Given the description of an element on the screen output the (x, y) to click on. 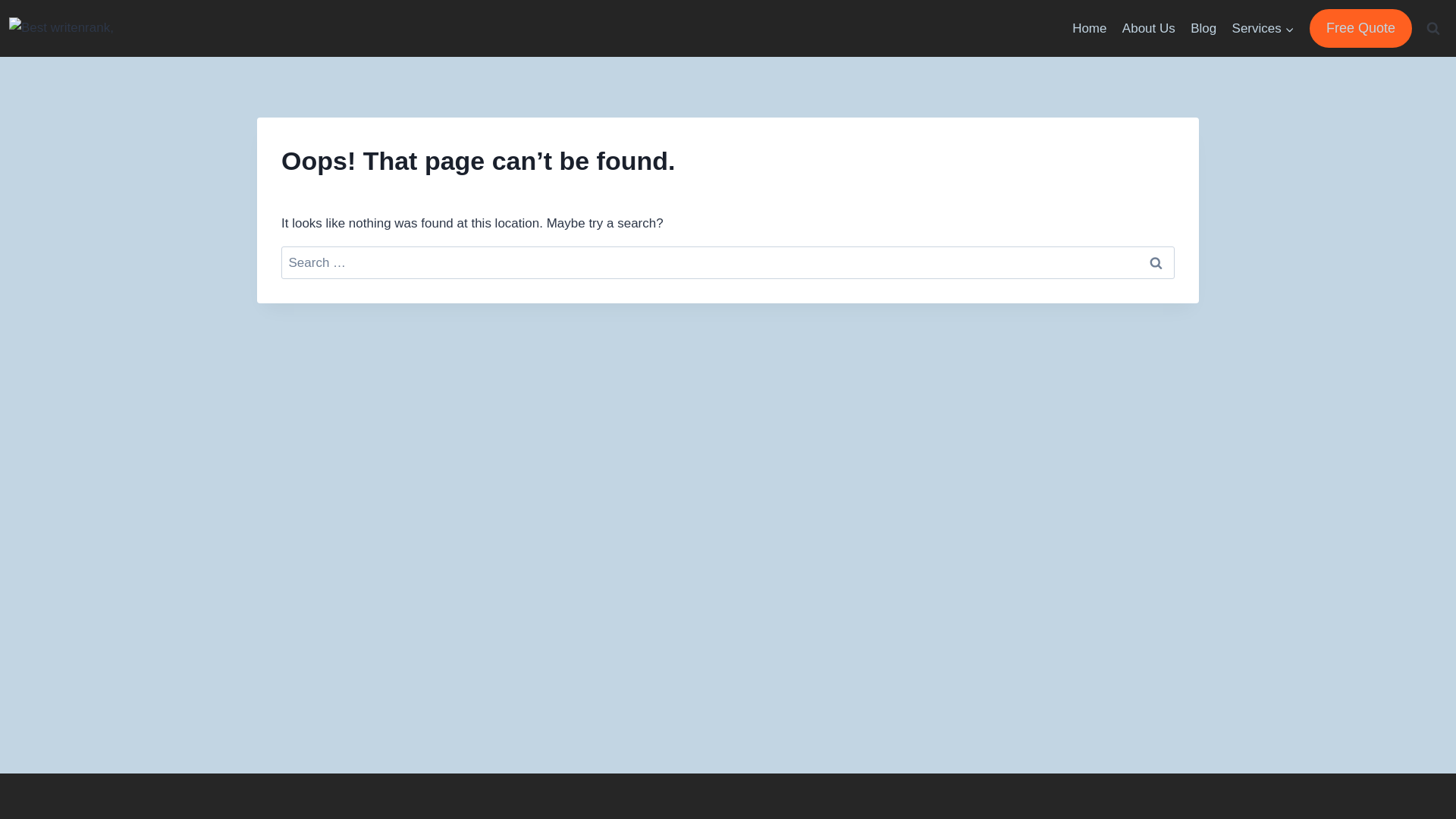
Blog (1203, 28)
Search (1155, 262)
About Us (1148, 28)
Free Quote (1360, 28)
Home (1089, 28)
Search (1155, 262)
Services (1262, 28)
Search (1155, 262)
